Given the description of an element on the screen output the (x, y) to click on. 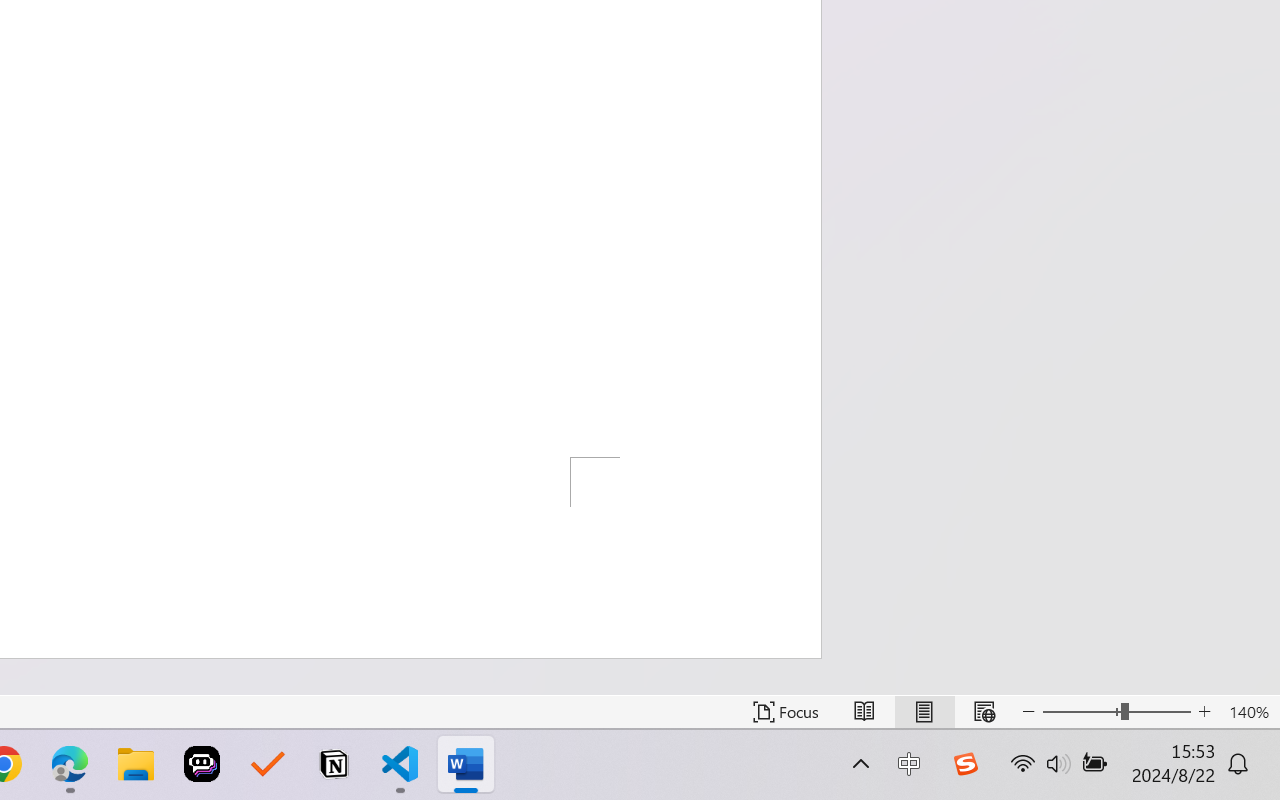
Notion (333, 764)
Print Layout (924, 712)
Poe (201, 764)
Class: Image (965, 764)
Zoom (1116, 712)
